Given the description of an element on the screen output the (x, y) to click on. 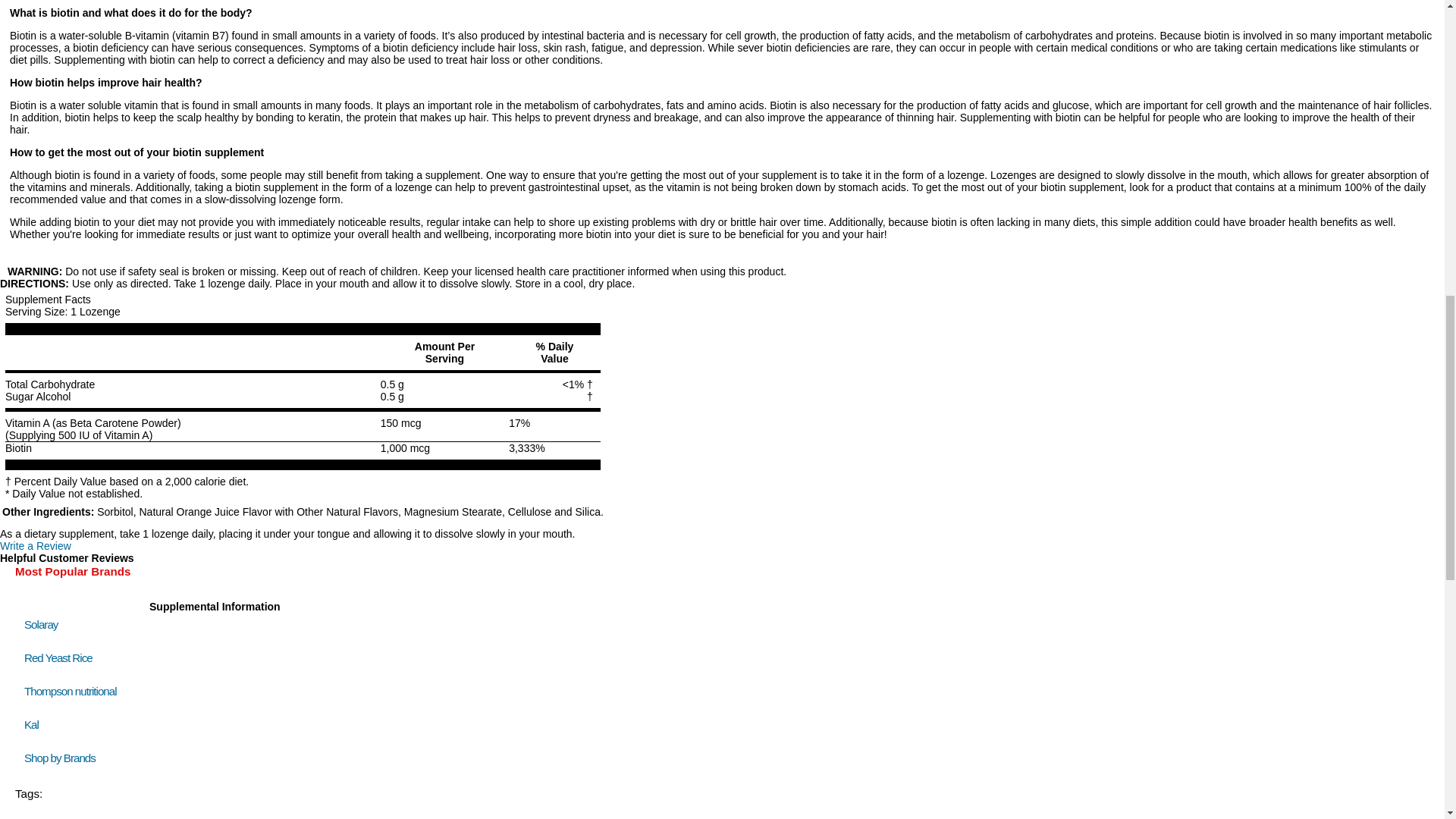
Thompson Nutritional Products (70, 690)
Search for: Biotin (31, 818)
Solaray Products (41, 624)
Shop by Brand Complete list (62, 757)
Find more Solaray Biotin 1000 (68, 818)
red yeast rice extract (58, 657)
Kal Brand Products (31, 724)
Search for: 1000 (70, 818)
